Given the description of an element on the screen output the (x, y) to click on. 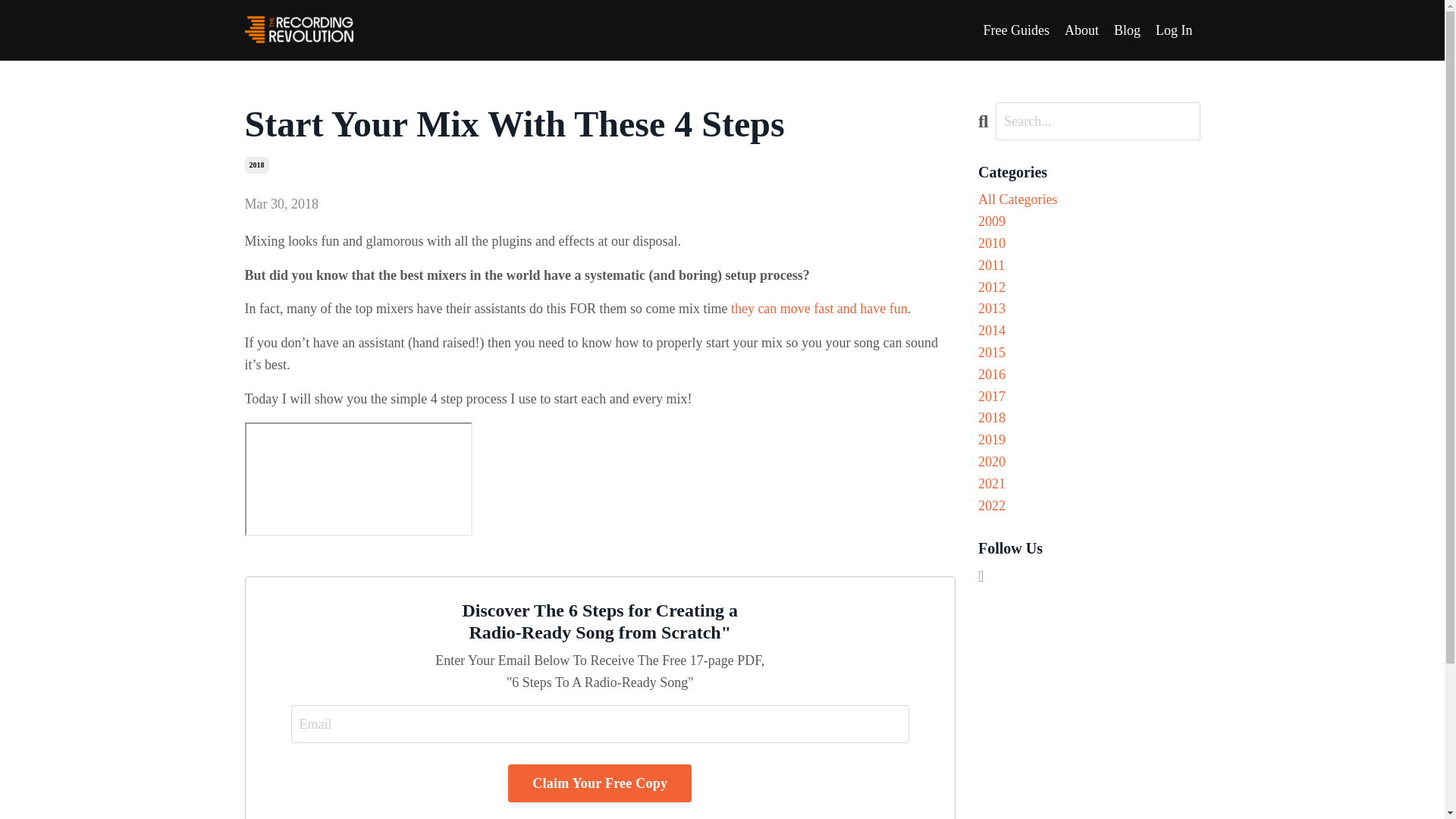
All Categories (1088, 199)
2016 (1088, 374)
Claim Your Free Copy (599, 783)
2015 (1088, 352)
2009 (1088, 221)
2018 (1088, 418)
2012 (1088, 287)
they can move fast and have fun (818, 308)
2020 (1088, 462)
2014 (1088, 331)
